Given the description of an element on the screen output the (x, y) to click on. 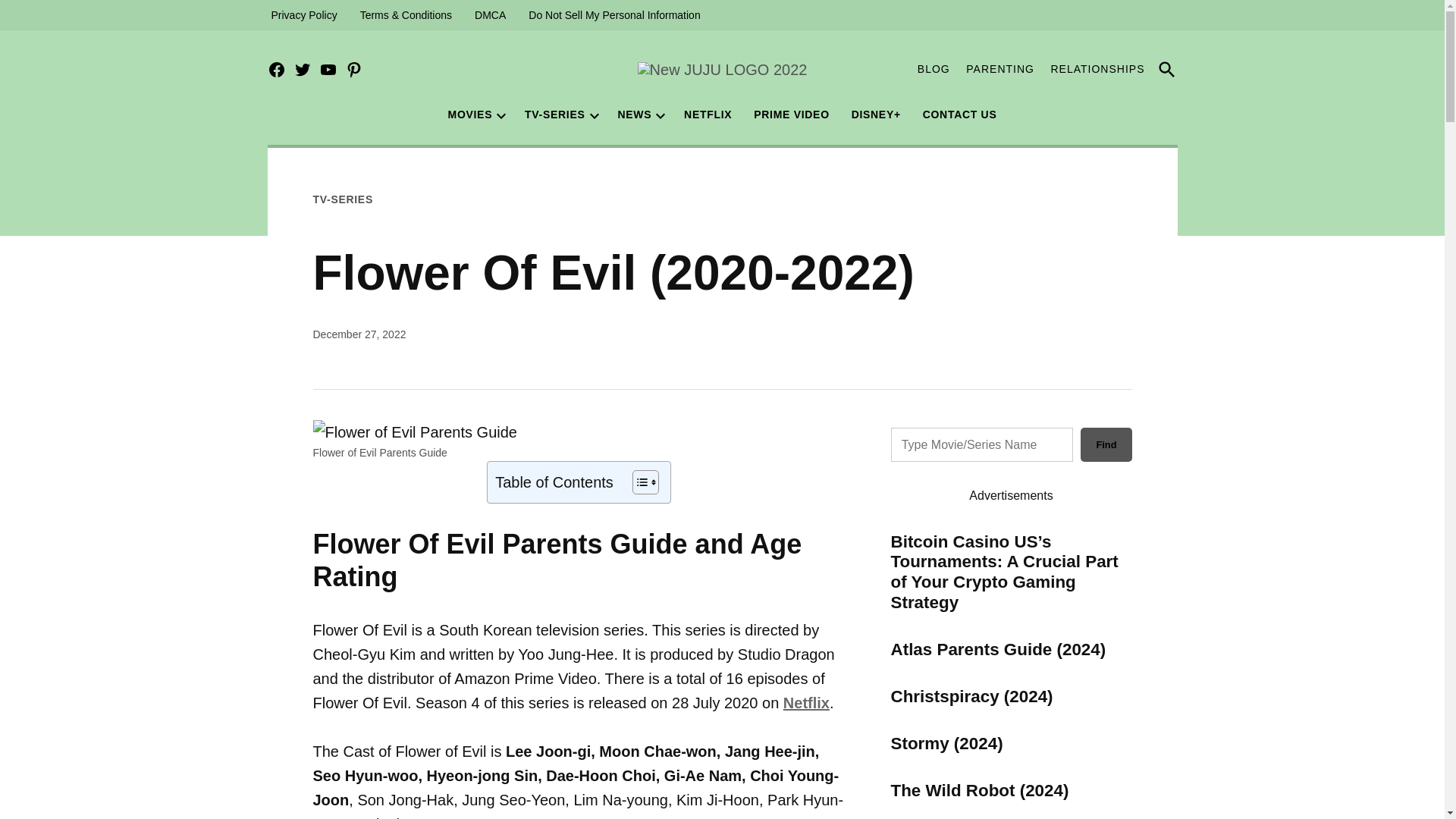
Do Not Sell My Personal Information (613, 14)
DMCA (489, 14)
YouTube (327, 69)
Facebook (275, 69)
Privacy Policy (303, 14)
Twitter (301, 69)
